Given the description of an element on the screen output the (x, y) to click on. 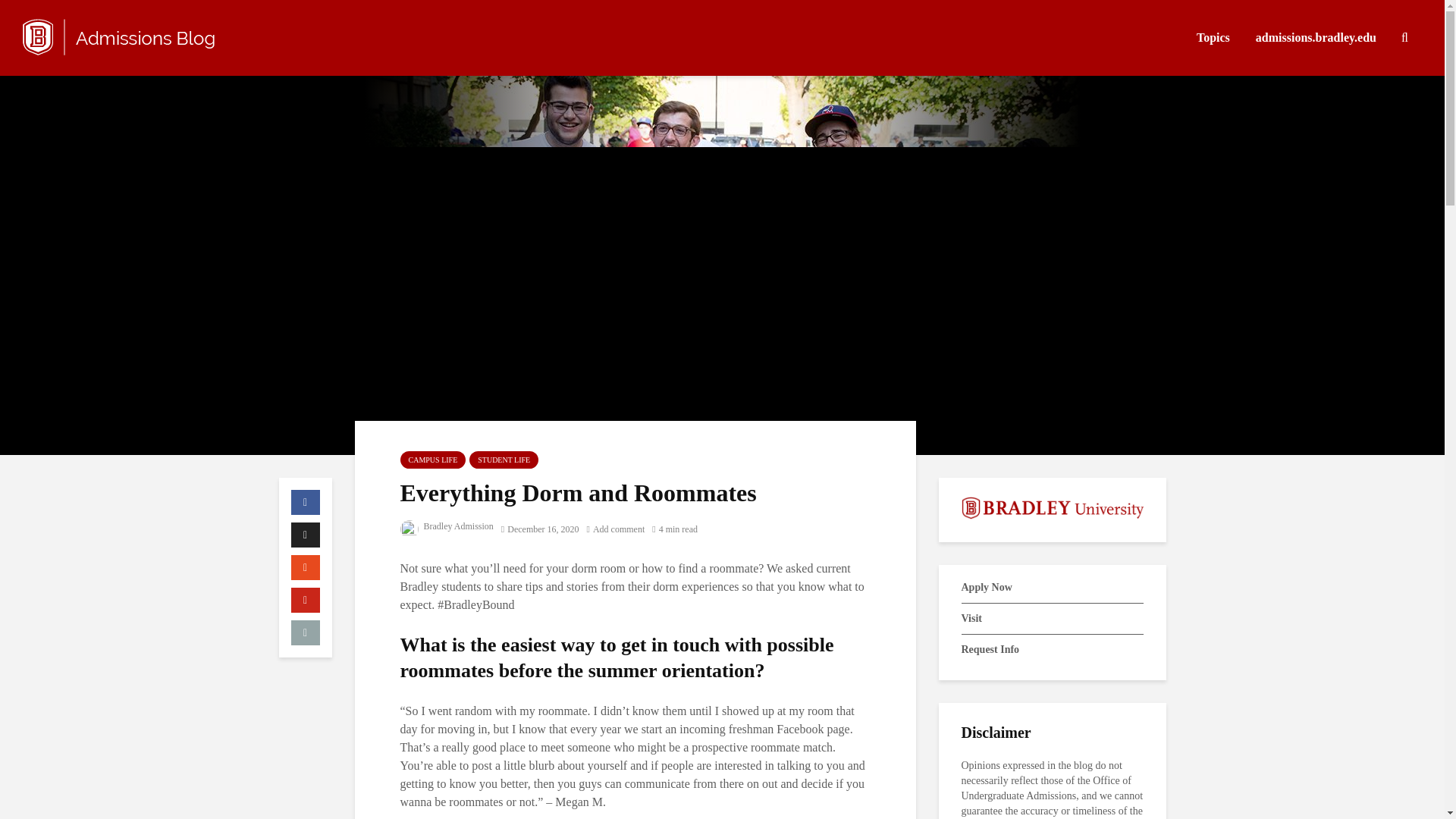
Topics (1213, 37)
CAMPUS LIFE (432, 459)
STUDENT LIFE (503, 459)
admissions.bradley.edu (1315, 37)
Add comment (615, 529)
Bradley Admission (446, 525)
